Given the description of an element on the screen output the (x, y) to click on. 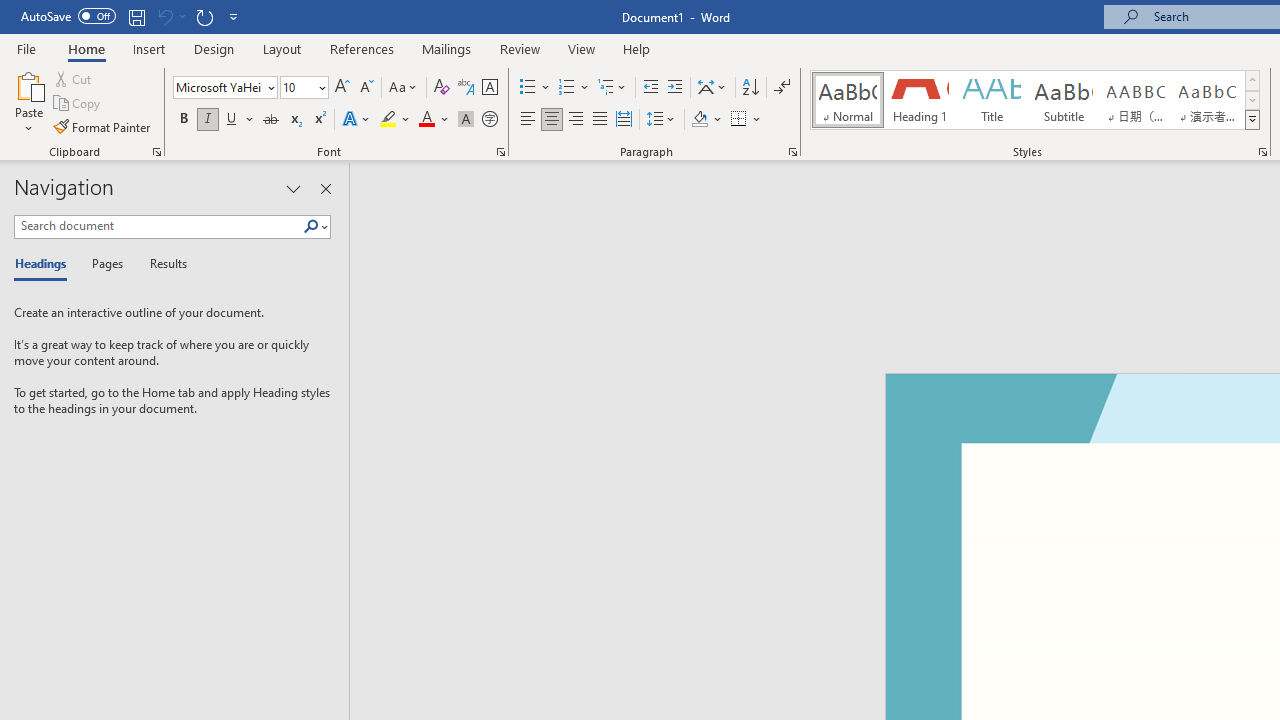
Font Color Red (426, 119)
